Given the description of an element on the screen output the (x, y) to click on. 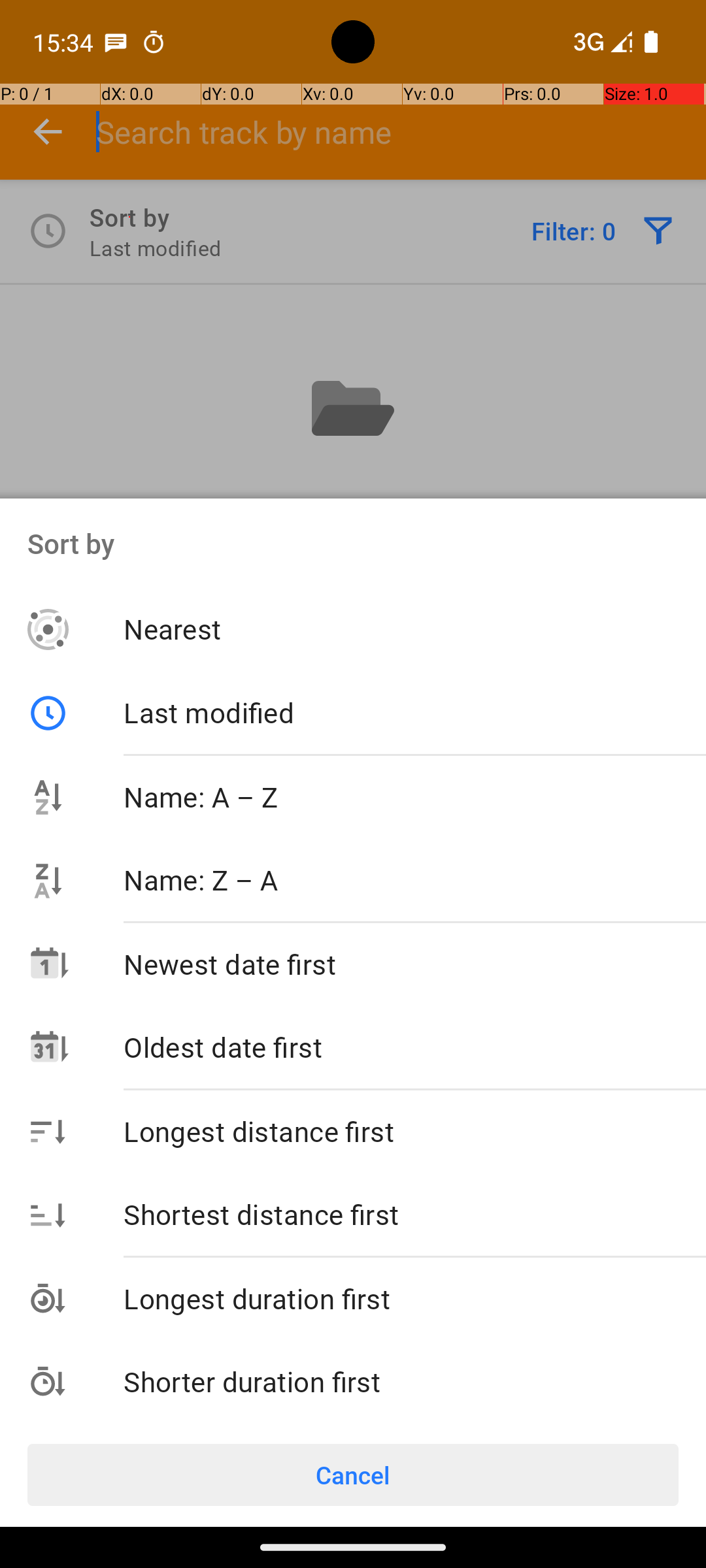
Nearest Element type: android.widget.TextView (414, 628)
Last modified Element type: android.widget.TextView (366, 712)
Name: A – Z Element type: android.widget.TextView (414, 796)
Name: Z – A Element type: android.widget.TextView (414, 879)
Newest date first Element type: android.widget.TextView (414, 963)
Oldest date first Element type: android.widget.TextView (414, 1046)
Longest distance first Element type: android.widget.TextView (414, 1130)
Shortest distance first Element type: android.widget.TextView (414, 1213)
Longest duration first Element type: android.widget.TextView (414, 1298)
Shorter duration first Element type: android.widget.TextView (414, 1381)
